Given the description of an element on the screen output the (x, y) to click on. 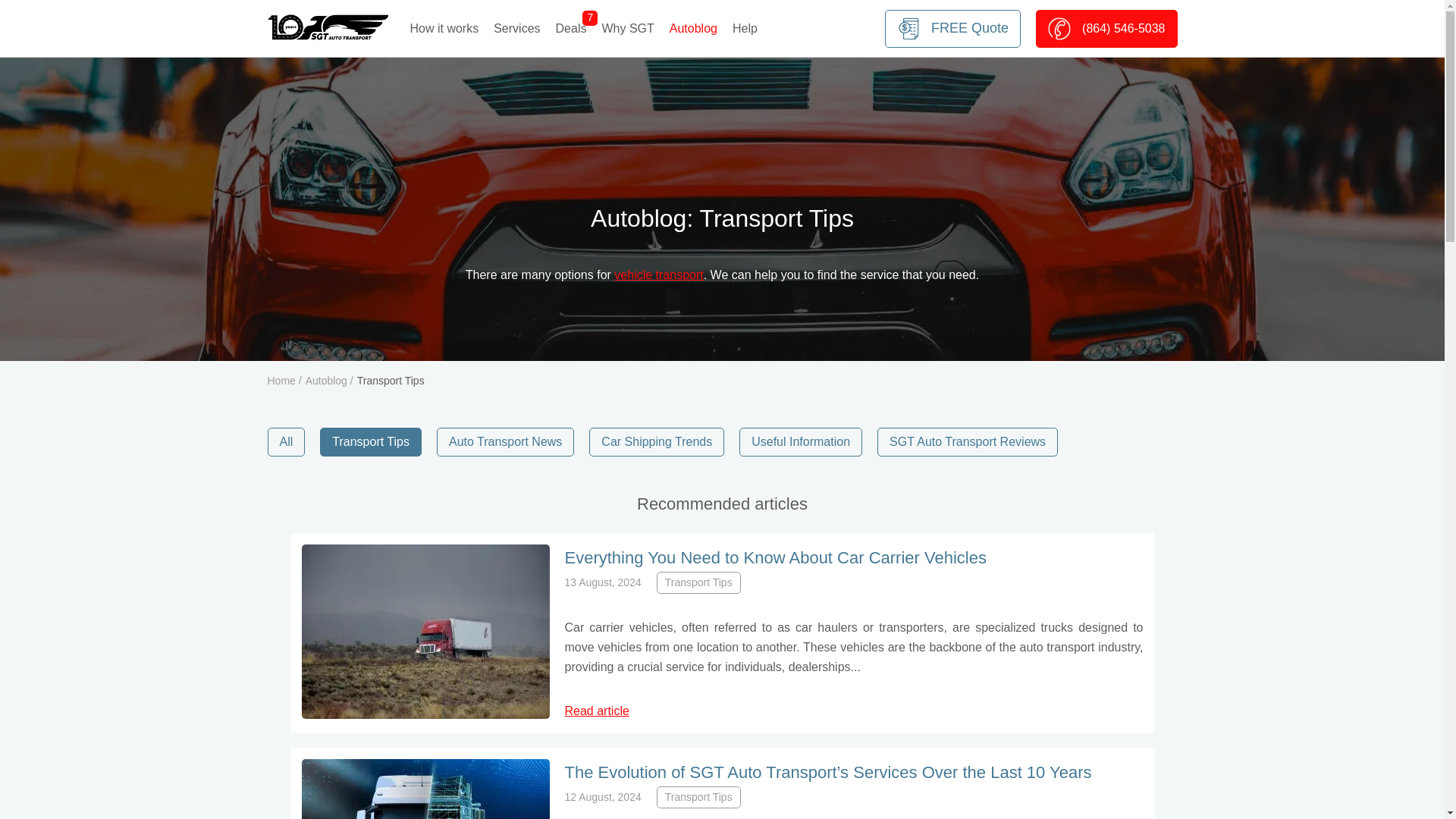
Deals (571, 27)
Help (745, 27)
Services (516, 27)
Why SGT (627, 27)
Autoblog (693, 27)
Monday, August 12, 2024 - 11:43 (602, 797)
Tuesday, August 13, 2024 - 07:47 (602, 582)
How it works (443, 27)
FREE Quote (952, 27)
